Given the description of an element on the screen output the (x, y) to click on. 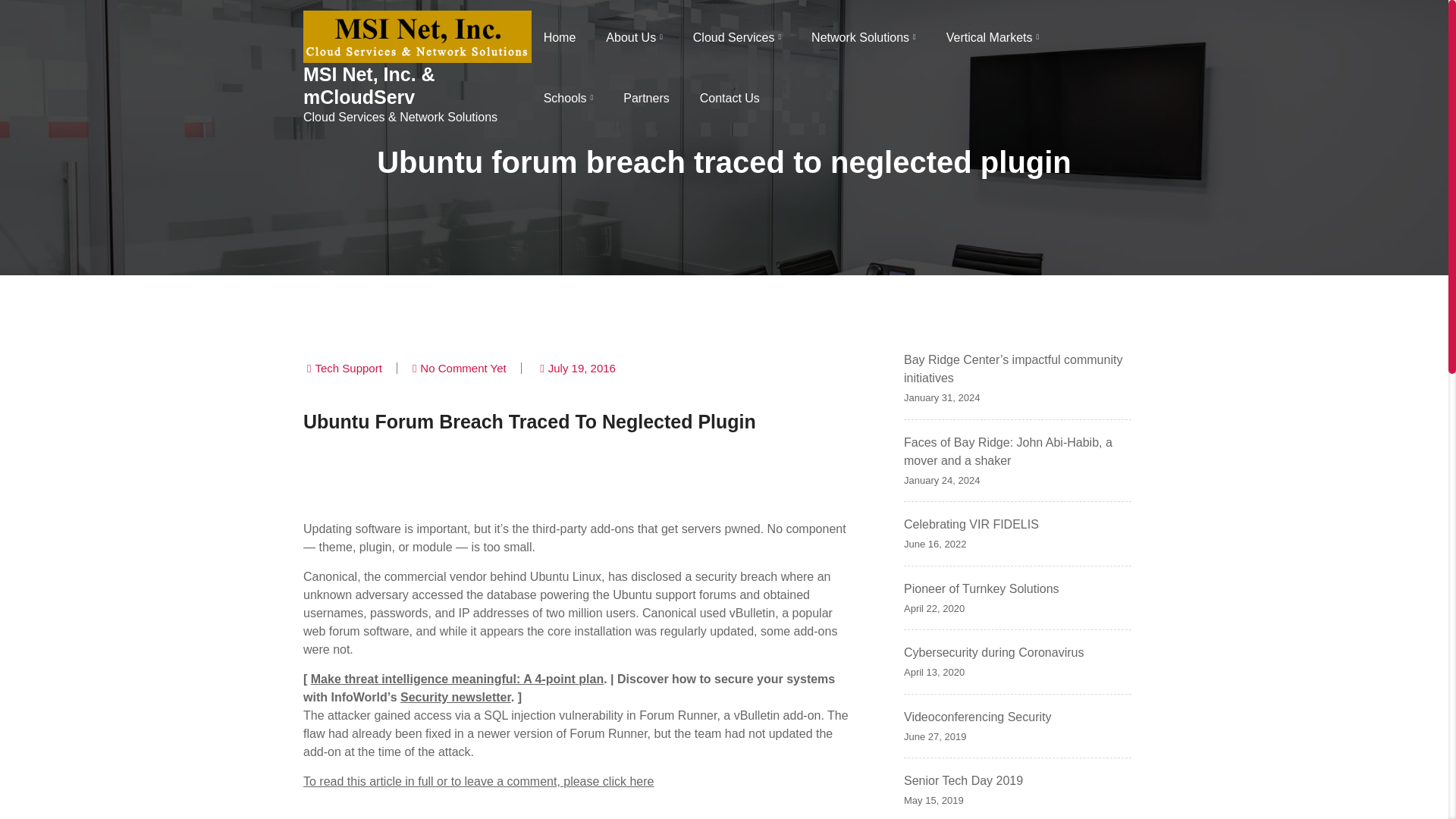
Schools (568, 98)
About Us (633, 37)
Cloud Services (736, 37)
Vertical Markets (992, 37)
Network Solutions (862, 37)
